Given the description of an element on the screen output the (x, y) to click on. 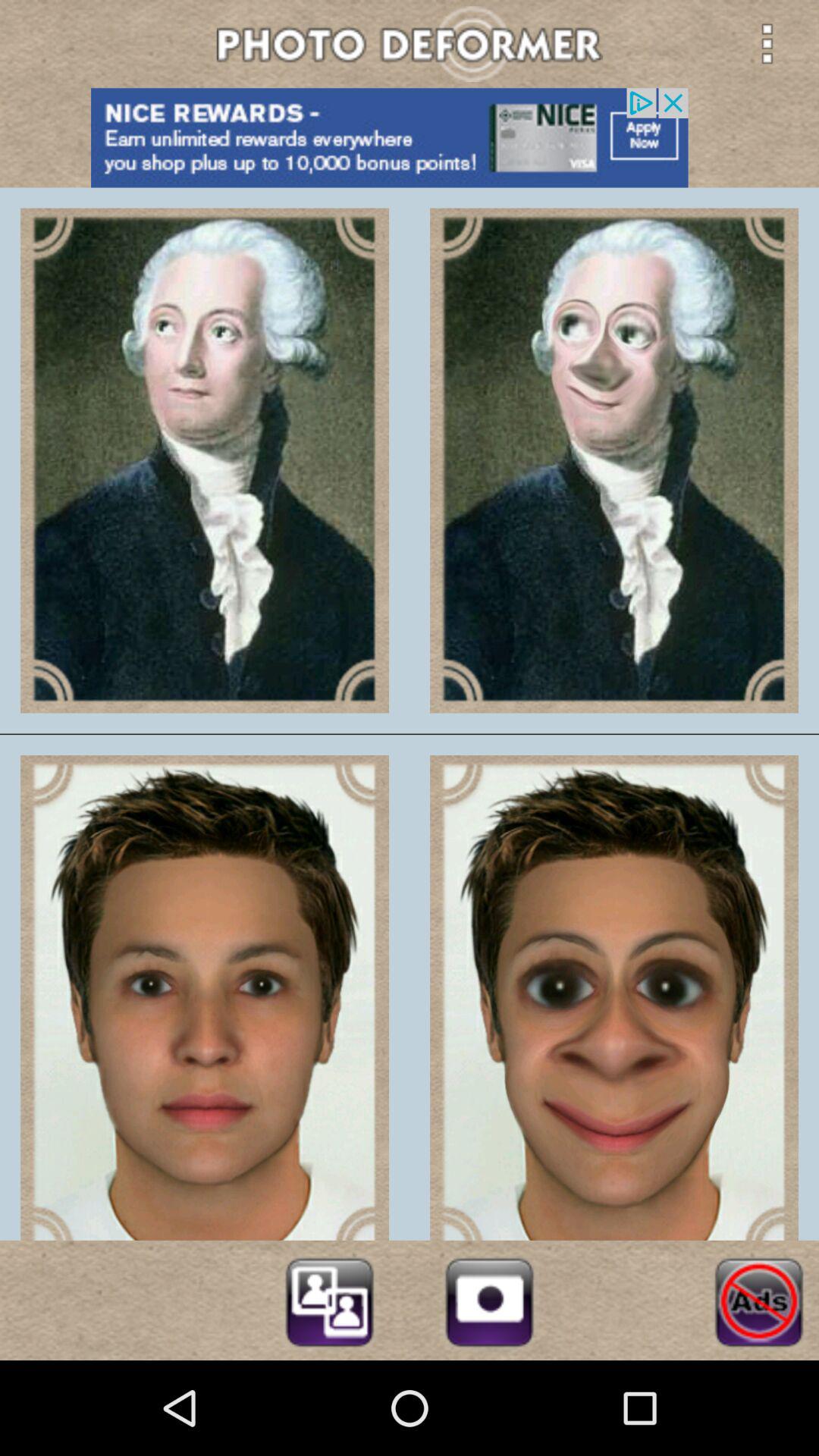
advertisement area (409, 137)
